Given the description of an element on the screen output the (x, y) to click on. 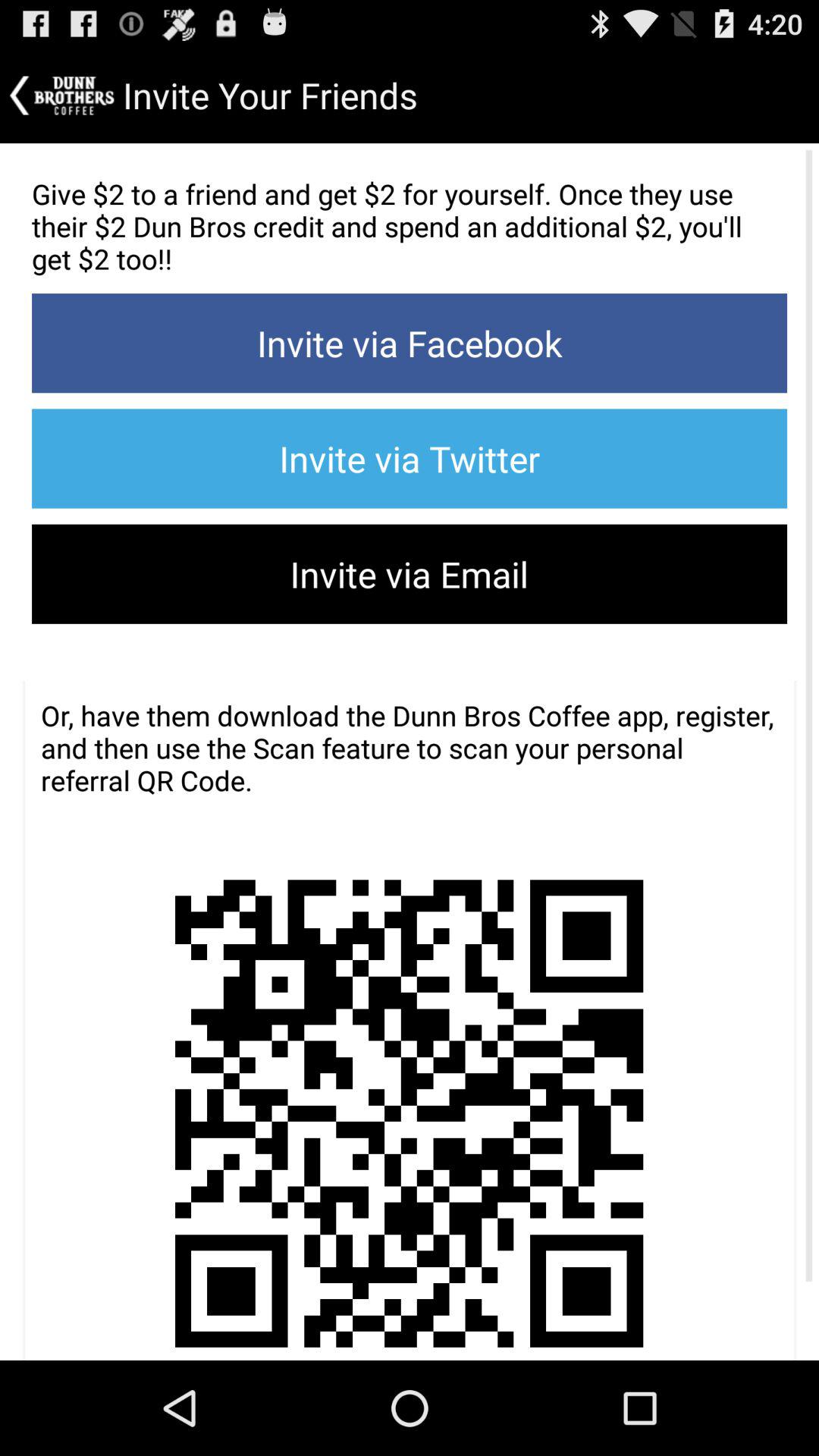
open the item below or have them (408, 1087)
